Given the description of an element on the screen output the (x, y) to click on. 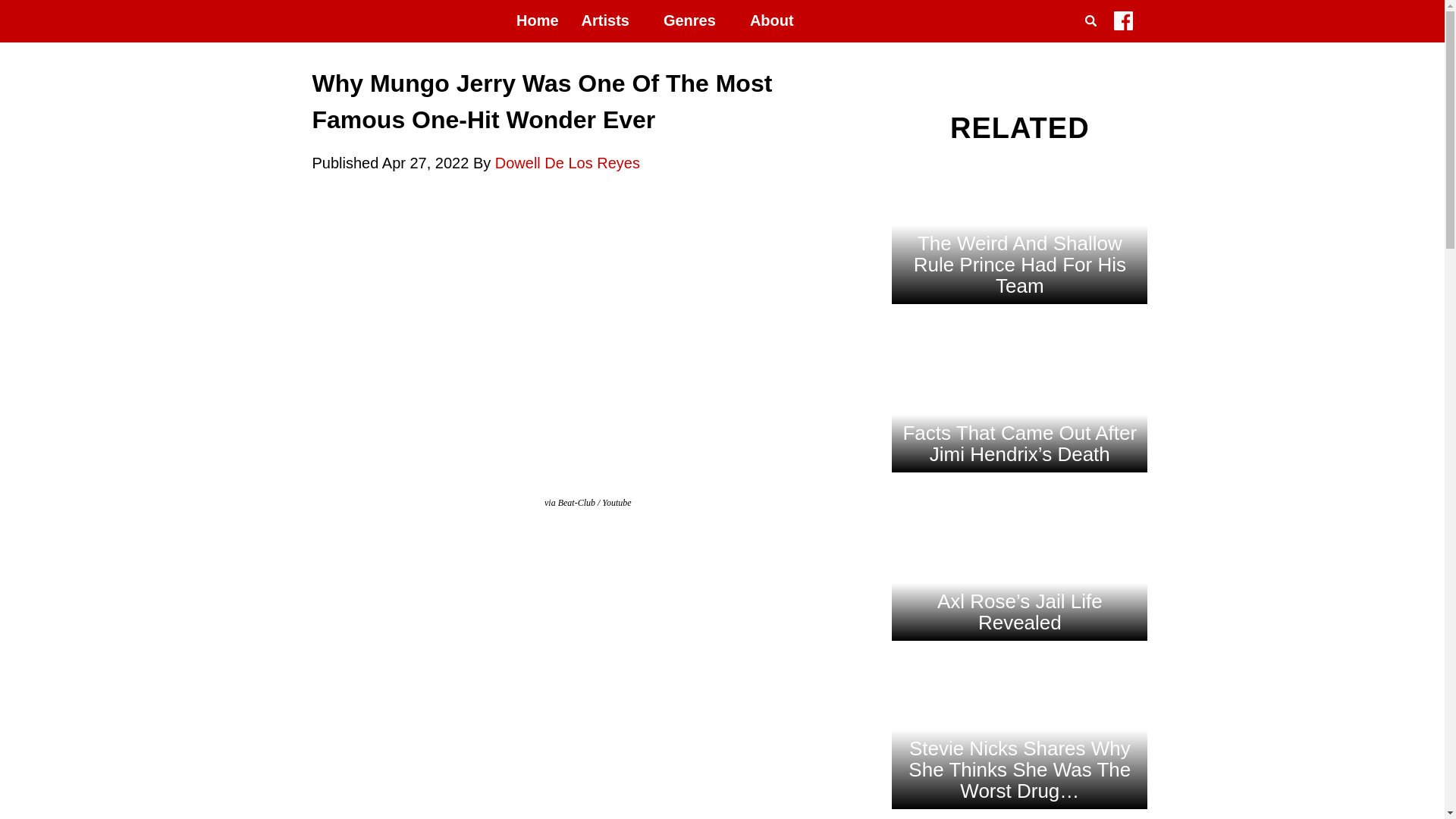
The Weird and Shallow Rule Prince Had For His Team (1019, 327)
Home (537, 21)
About (771, 21)
I Love Classic Rock on Facebook (1122, 24)
Genres (695, 21)
Search (1093, 39)
Search (1093, 39)
The Weird and Shallow Rule Prince Had For His Team (1019, 245)
Artists (611, 21)
The Weird and Shallow Rule Prince Had For His Team (1019, 264)
